Given the description of an element on the screen output the (x, y) to click on. 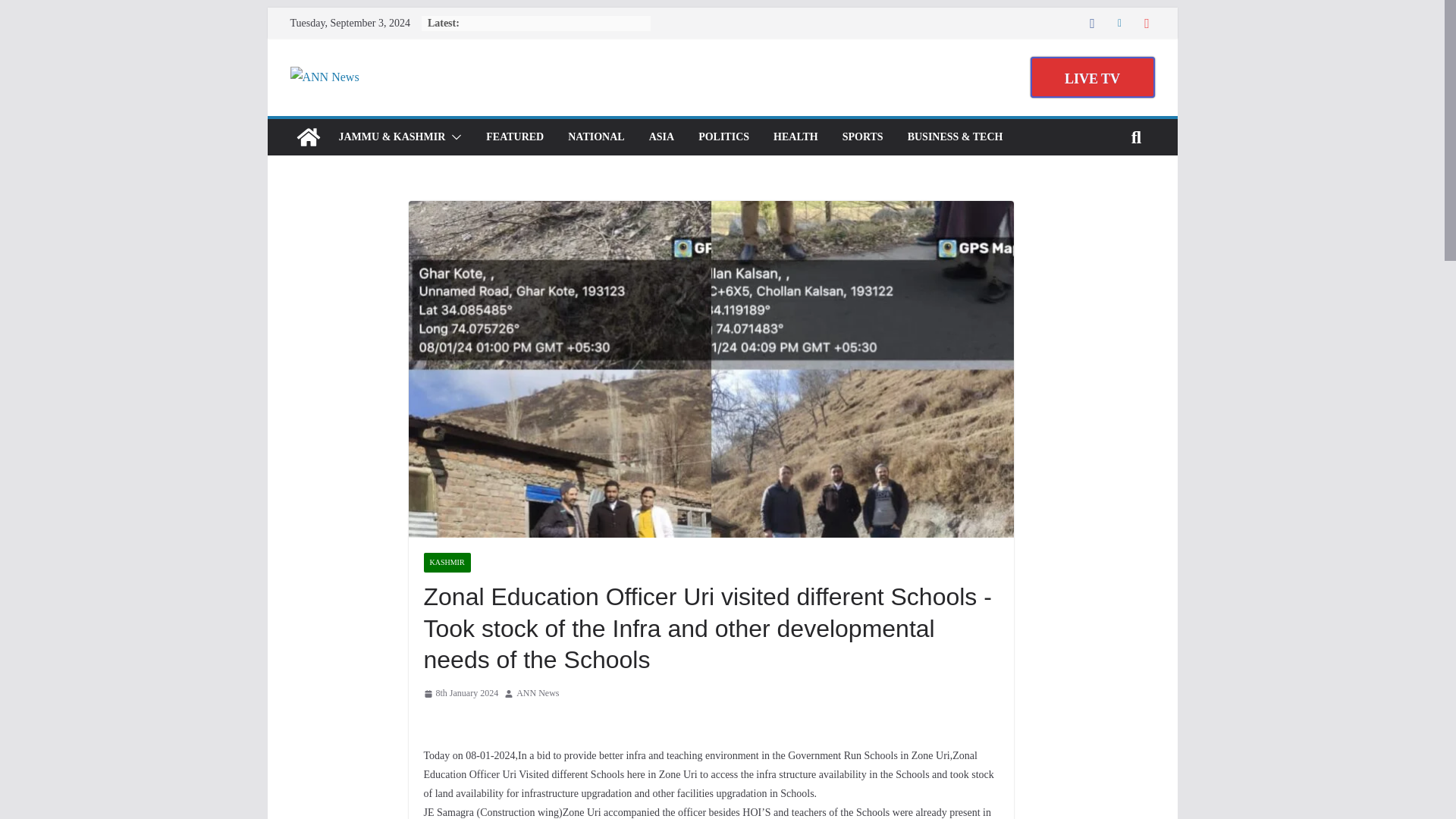
8th January 2024 (460, 693)
NATIONAL (595, 137)
LIVE TV (1091, 76)
9:56 pm (460, 693)
FEATURED (514, 137)
KASHMIR (446, 562)
SPORTS (863, 137)
POLITICS (723, 137)
ASIA (661, 137)
